Given the description of an element on the screen output the (x, y) to click on. 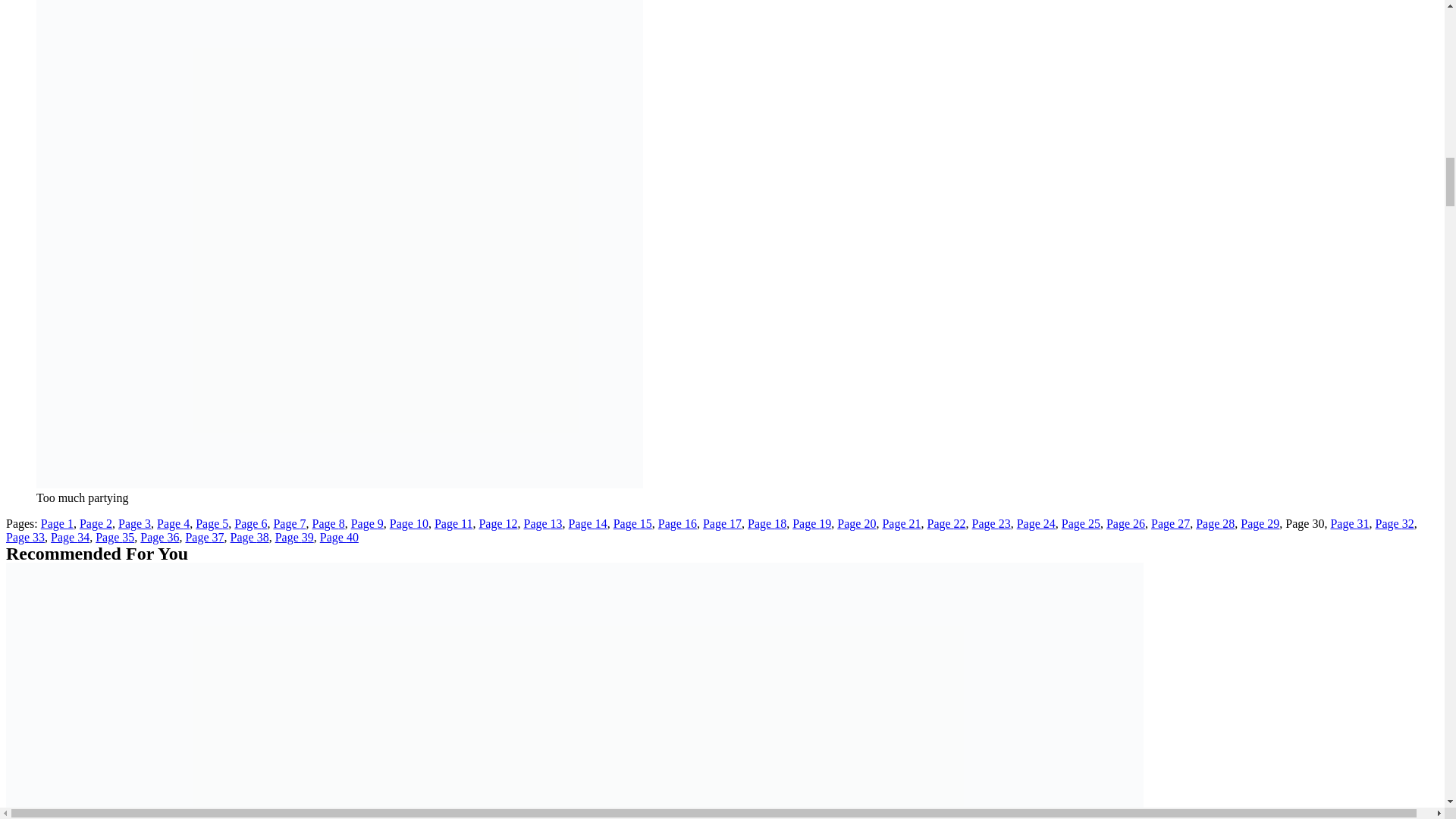
Page 1 (57, 522)
Page 15 (632, 522)
Page 17 (722, 522)
Page 22 (945, 522)
Page 14 (588, 522)
Page 8 (329, 522)
Page 20 (856, 522)
Page 19 (811, 522)
Page 10 (409, 522)
Page 16 (677, 522)
Page 4 (173, 522)
Page 11 (453, 522)
Page 7 (289, 522)
Page 21 (901, 522)
Page 9 (367, 522)
